Given the description of an element on the screen output the (x, y) to click on. 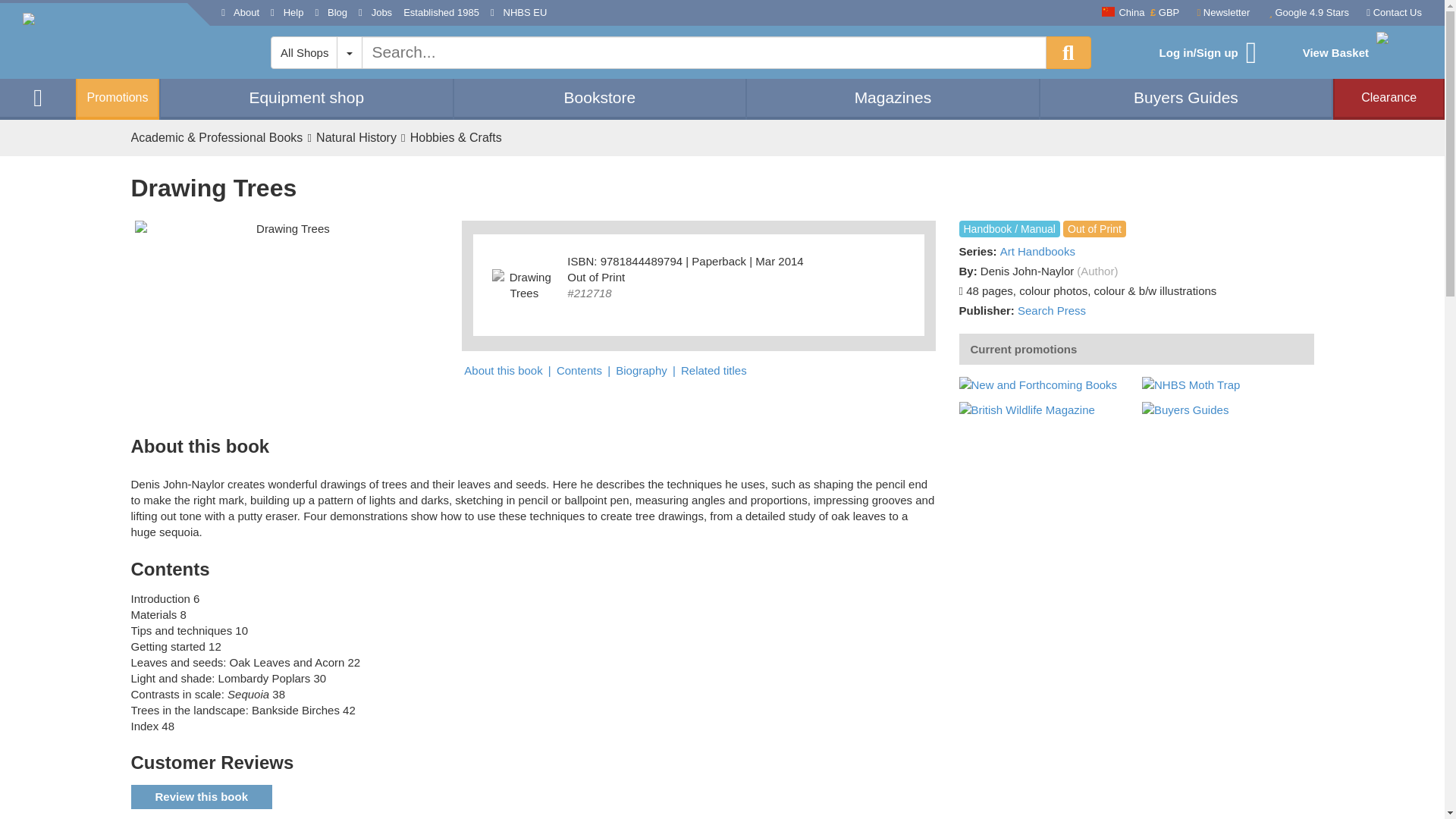
Bookstore (599, 97)
Blog (330, 12)
Back to NHBS (105, 40)
Clearance (1388, 97)
Promotions (116, 98)
Newsletter (1220, 14)
Equipment shop (306, 97)
Promotions (116, 98)
Back to NHBS (37, 97)
NHBS EU (518, 12)
